Given the description of an element on the screen output the (x, y) to click on. 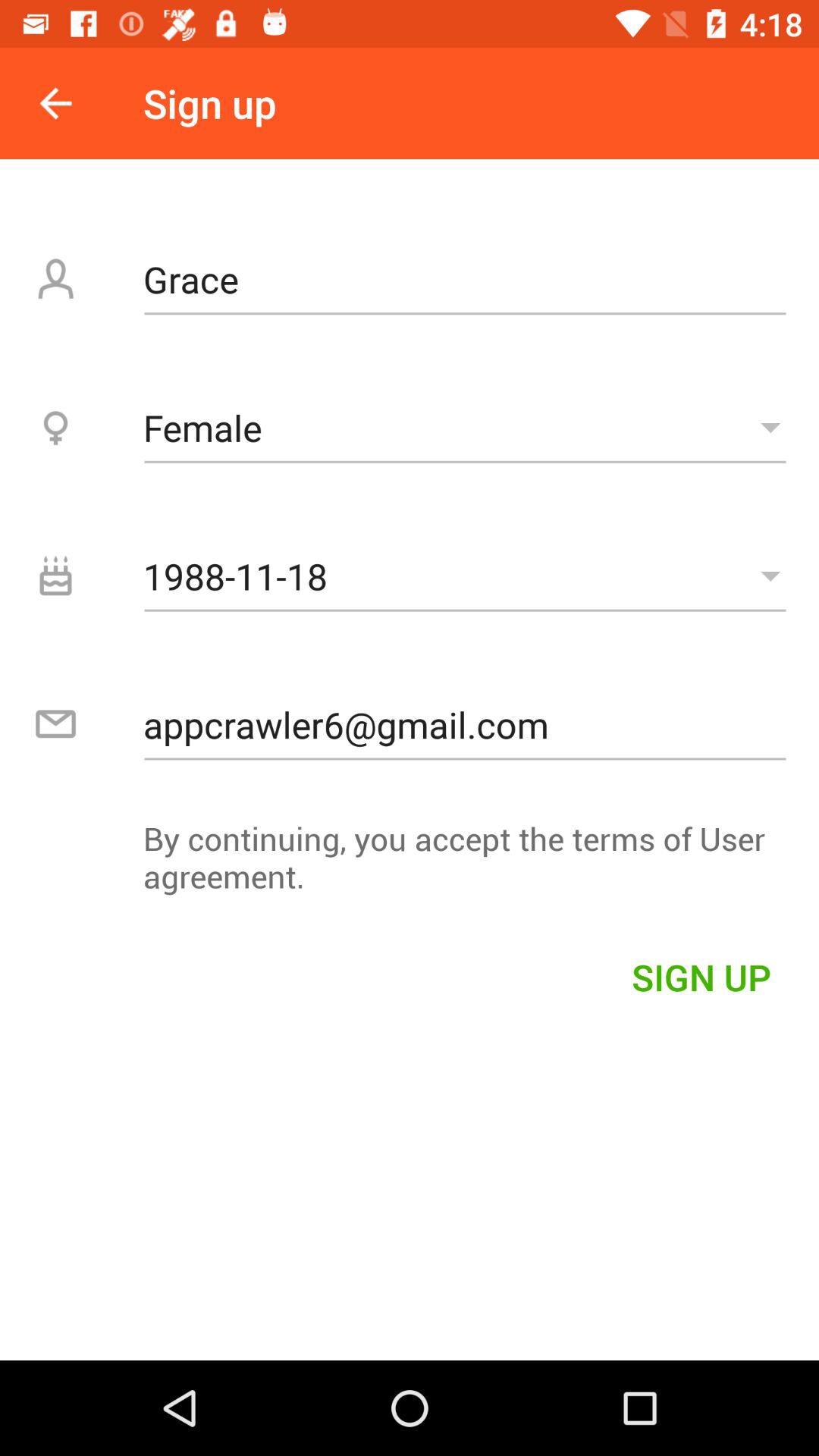
swipe until the grace icon (465, 278)
